Given the description of an element on the screen output the (x, y) to click on. 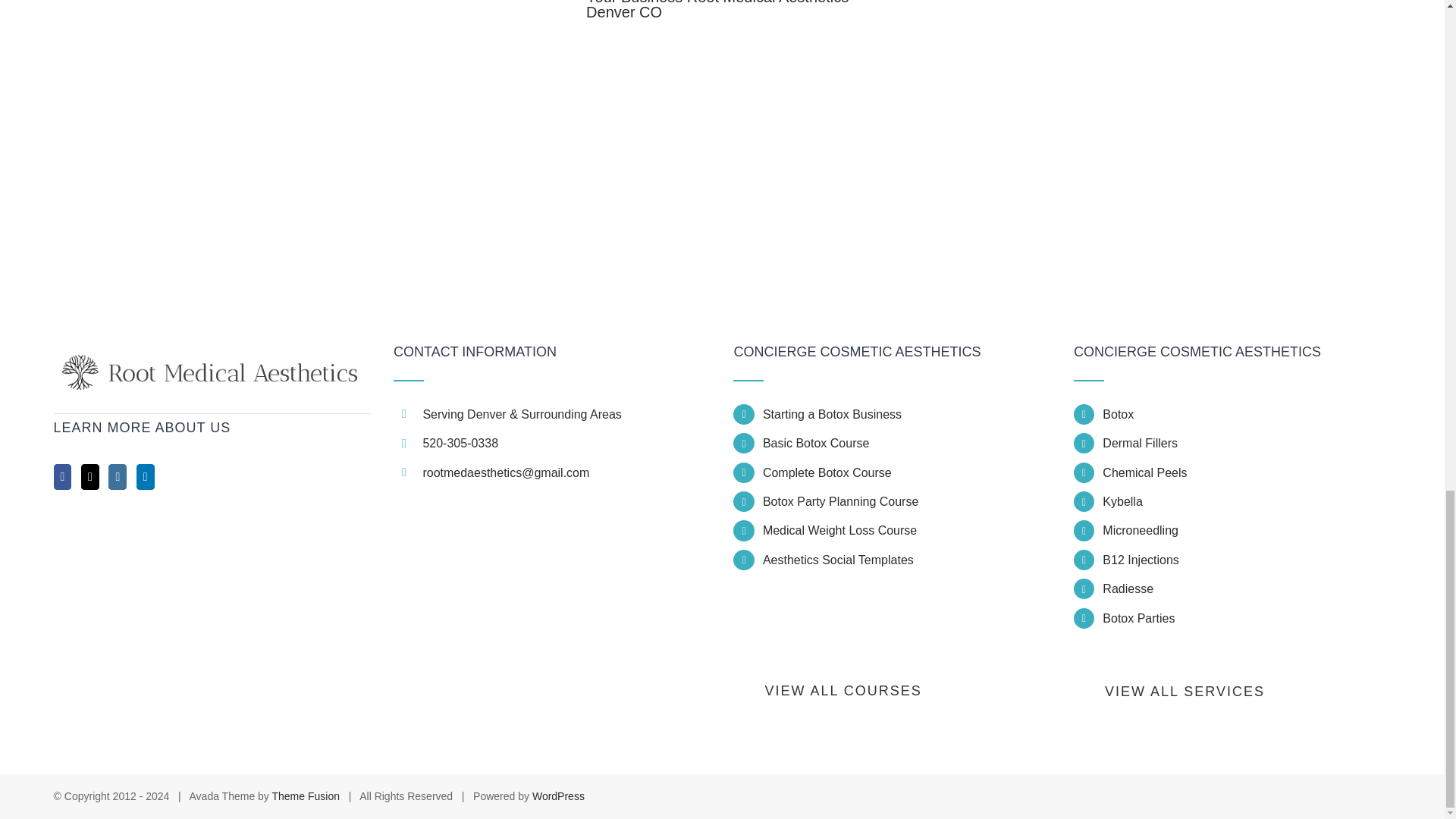
Complete Botox Course (906, 472)
Botox Party Planning Course (906, 501)
Basic Botox Course (906, 443)
Medical Weight Loss Course (906, 530)
Starting a Botox Business (906, 414)
